Given the description of an element on the screen output the (x, y) to click on. 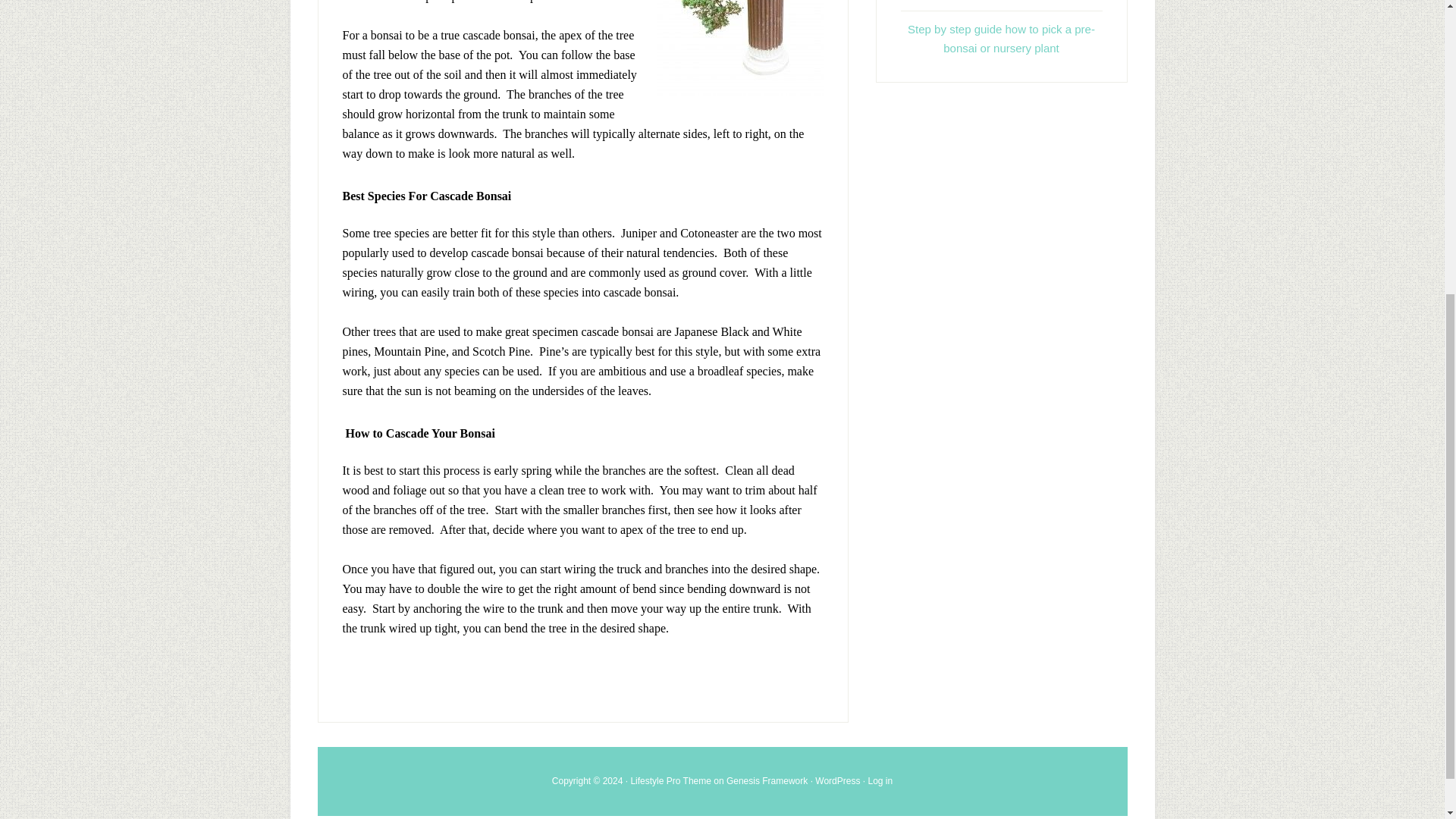
Log in (879, 780)
Lifestyle Pro Theme (670, 780)
Genesis Framework (767, 780)
WordPress (837, 780)
Step by step guide how to pick a pre-bonsai or nursery plant (1000, 38)
